Given the description of an element on the screen output the (x, y) to click on. 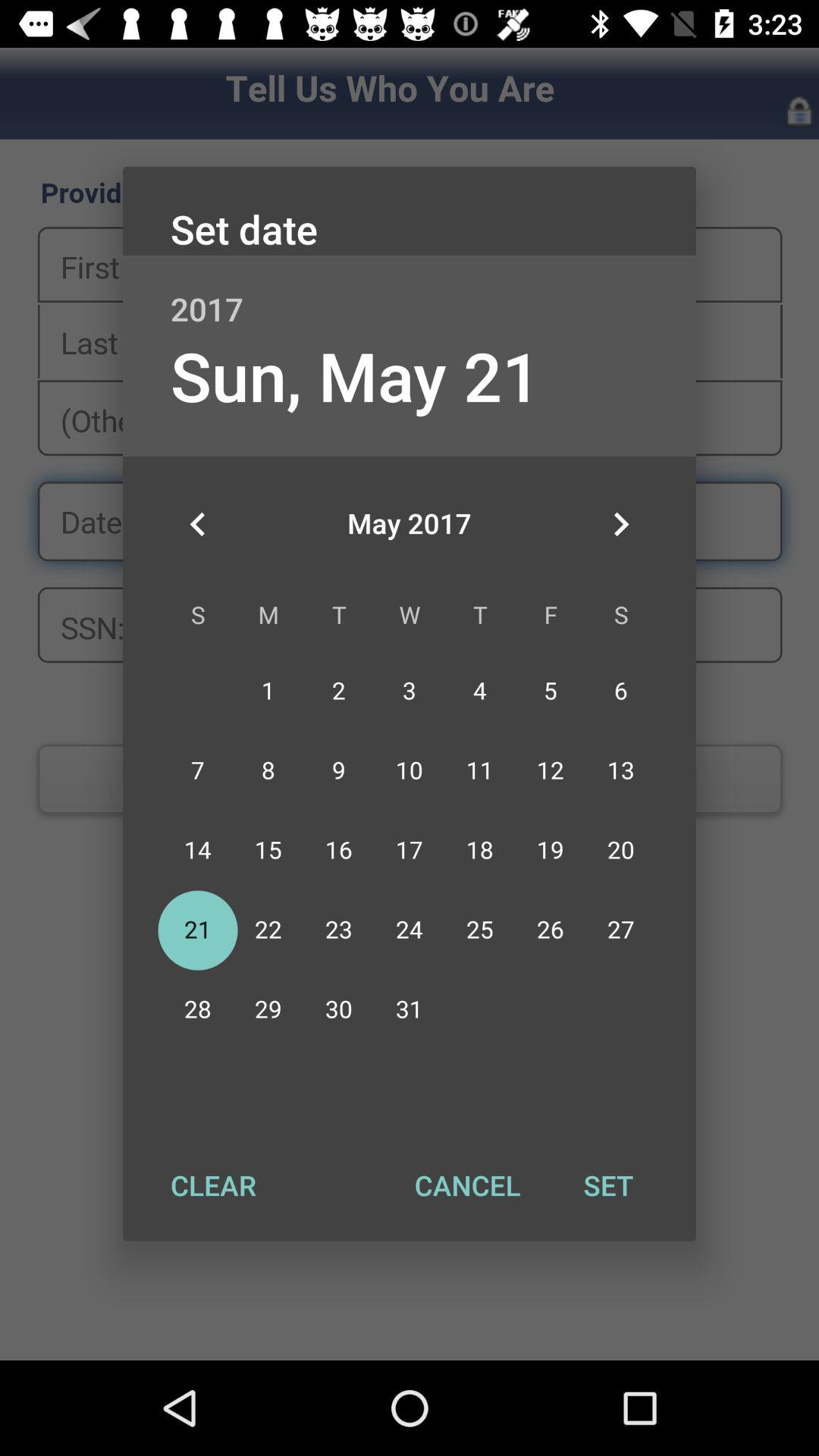
click the icon below sun, may 21 item (197, 524)
